Given the description of an element on the screen output the (x, y) to click on. 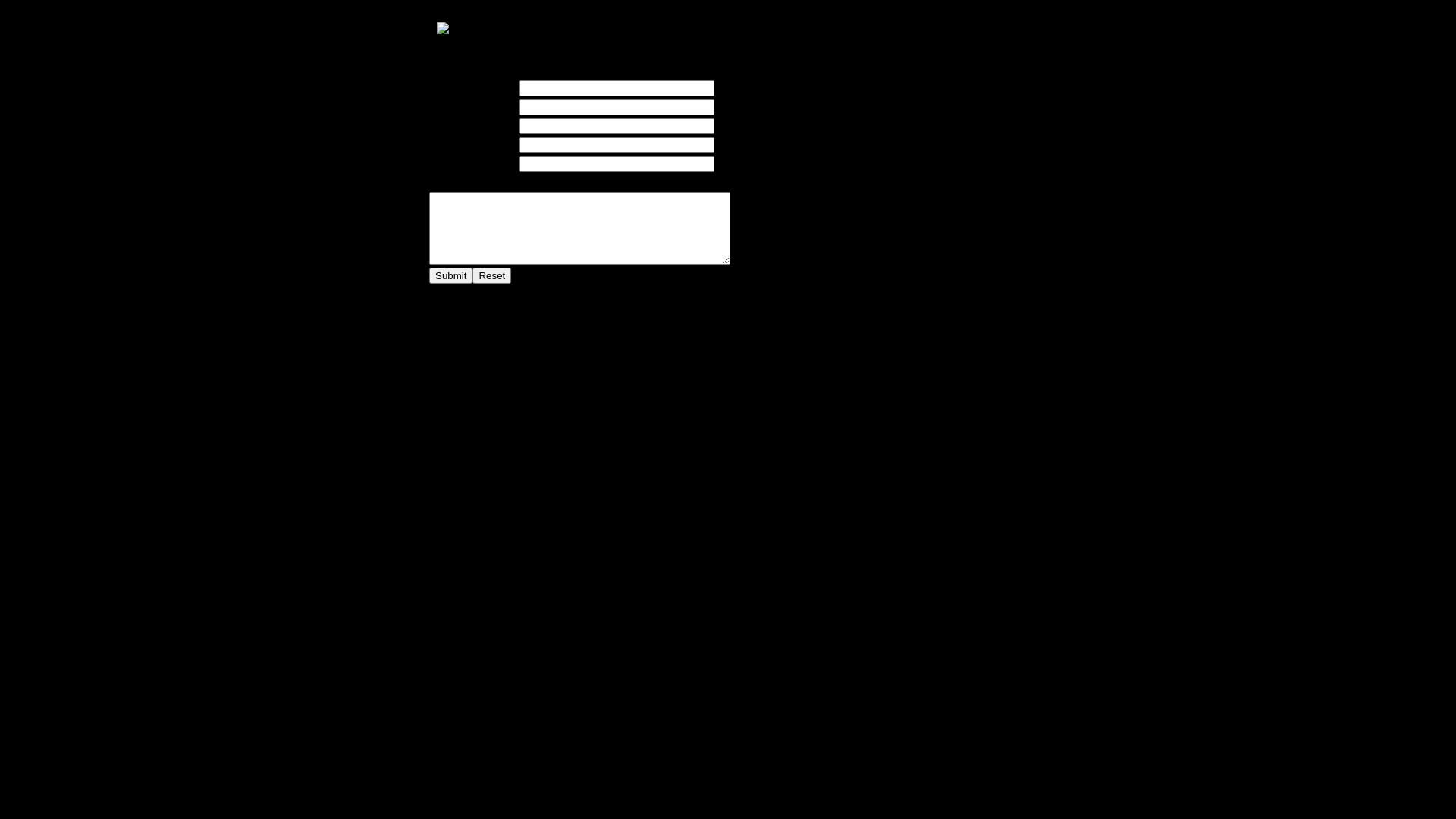
Submit Element type: text (450, 275)
